Given the description of an element on the screen output the (x, y) to click on. 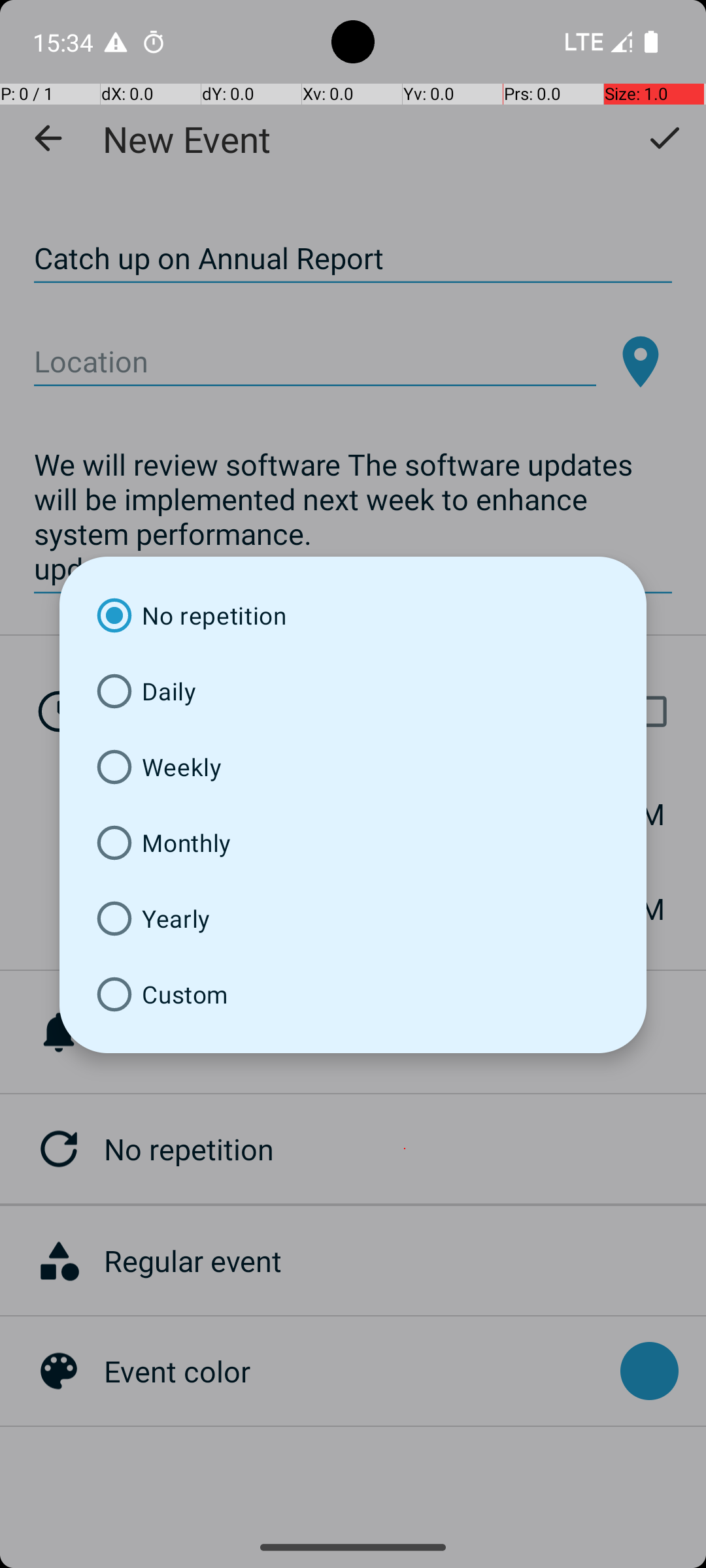
Daily Element type: android.widget.RadioButton (352, 691)
Weekly Element type: android.widget.RadioButton (352, 766)
Monthly Element type: android.widget.RadioButton (352, 842)
Yearly Element type: android.widget.RadioButton (352, 918)
Custom Element type: android.widget.RadioButton (352, 994)
